Given the description of an element on the screen output the (x, y) to click on. 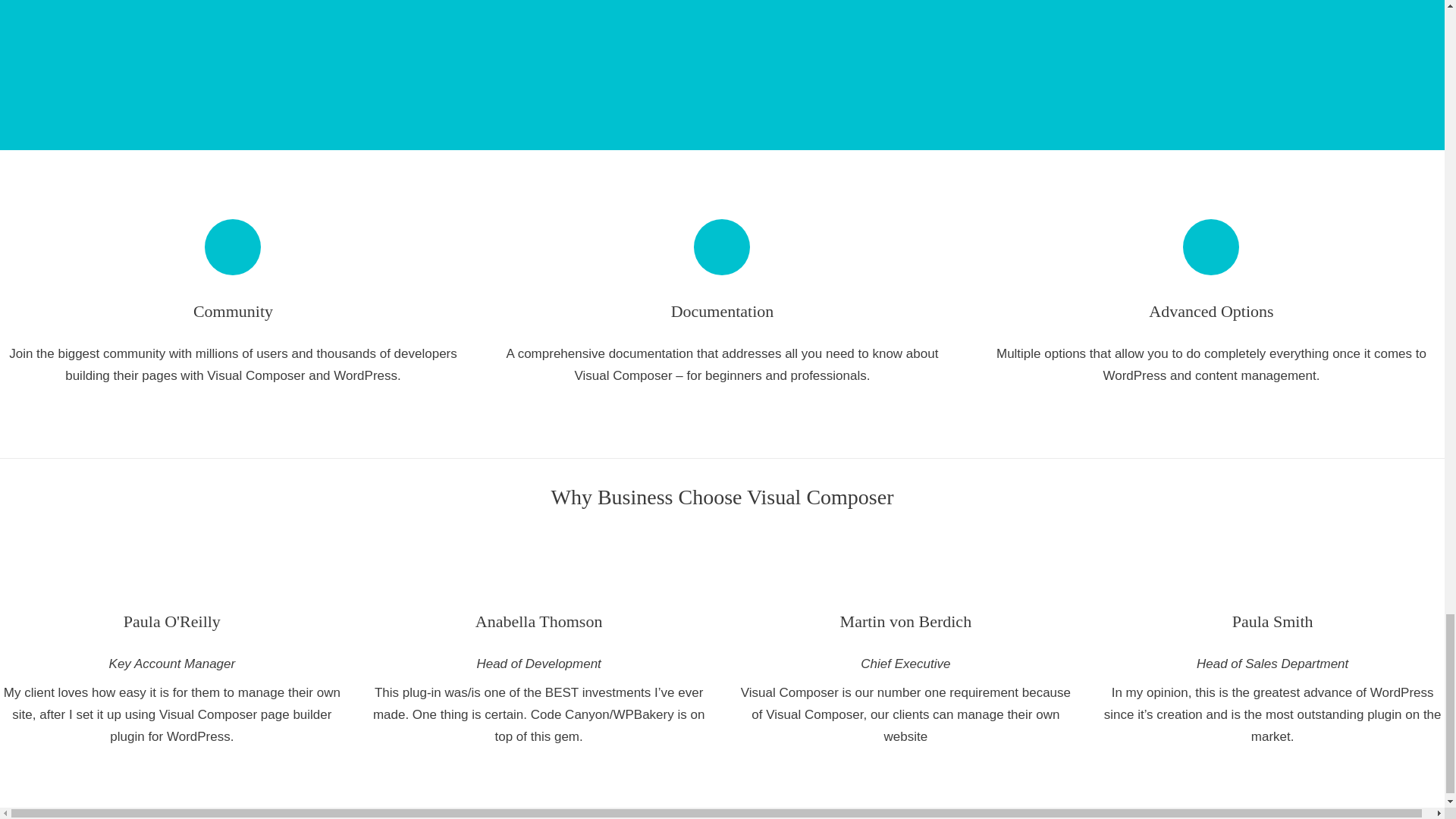
mobile-parallax-effect (358, 42)
